Given the description of an element on the screen output the (x, y) to click on. 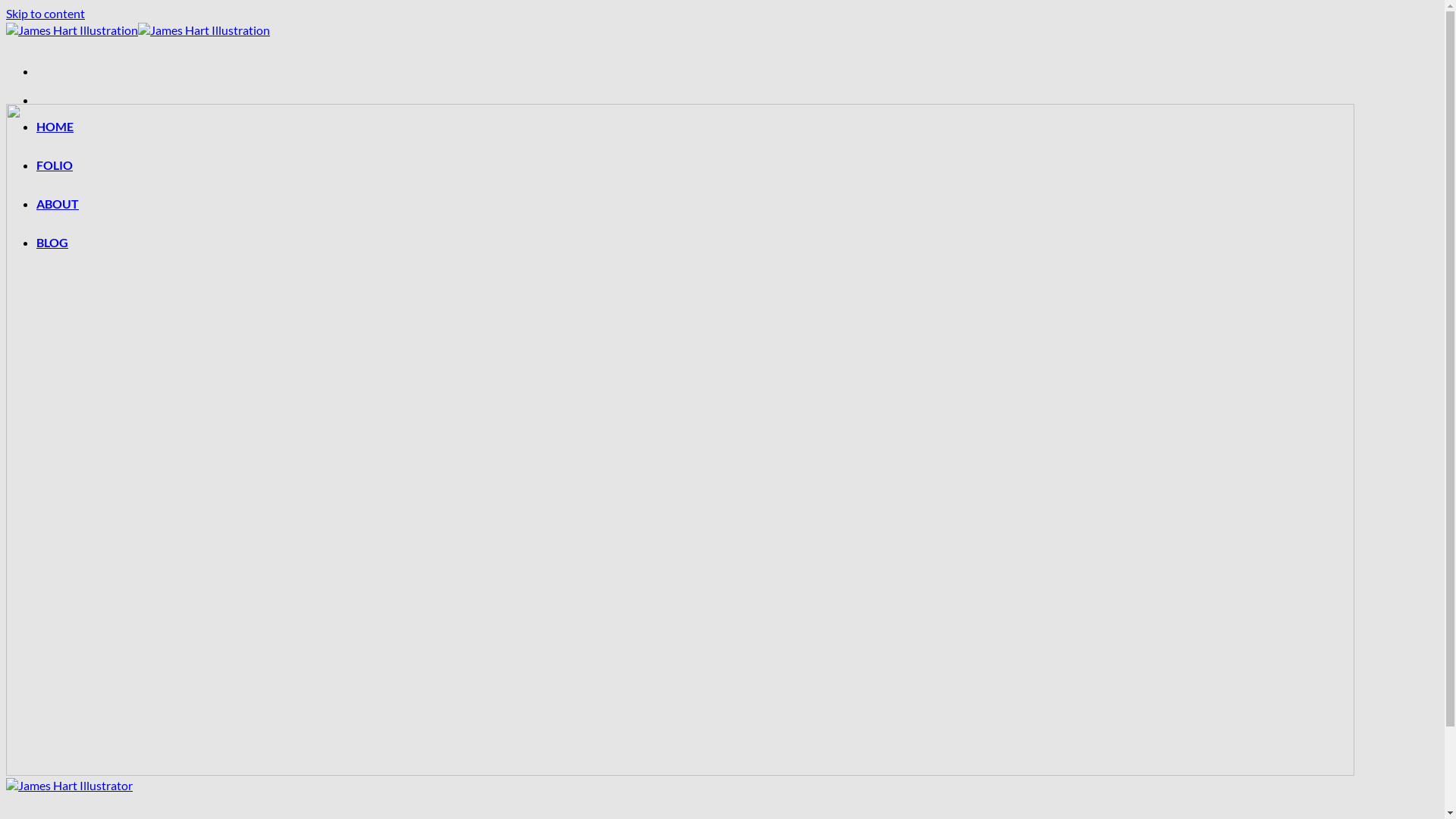
FOLIO Element type: text (54, 164)
HOME Element type: text (54, 126)
ABOUT Element type: text (57, 203)
Skip to content Element type: text (45, 13)
BLOG Element type: text (52, 242)
